Given the description of an element on the screen output the (x, y) to click on. 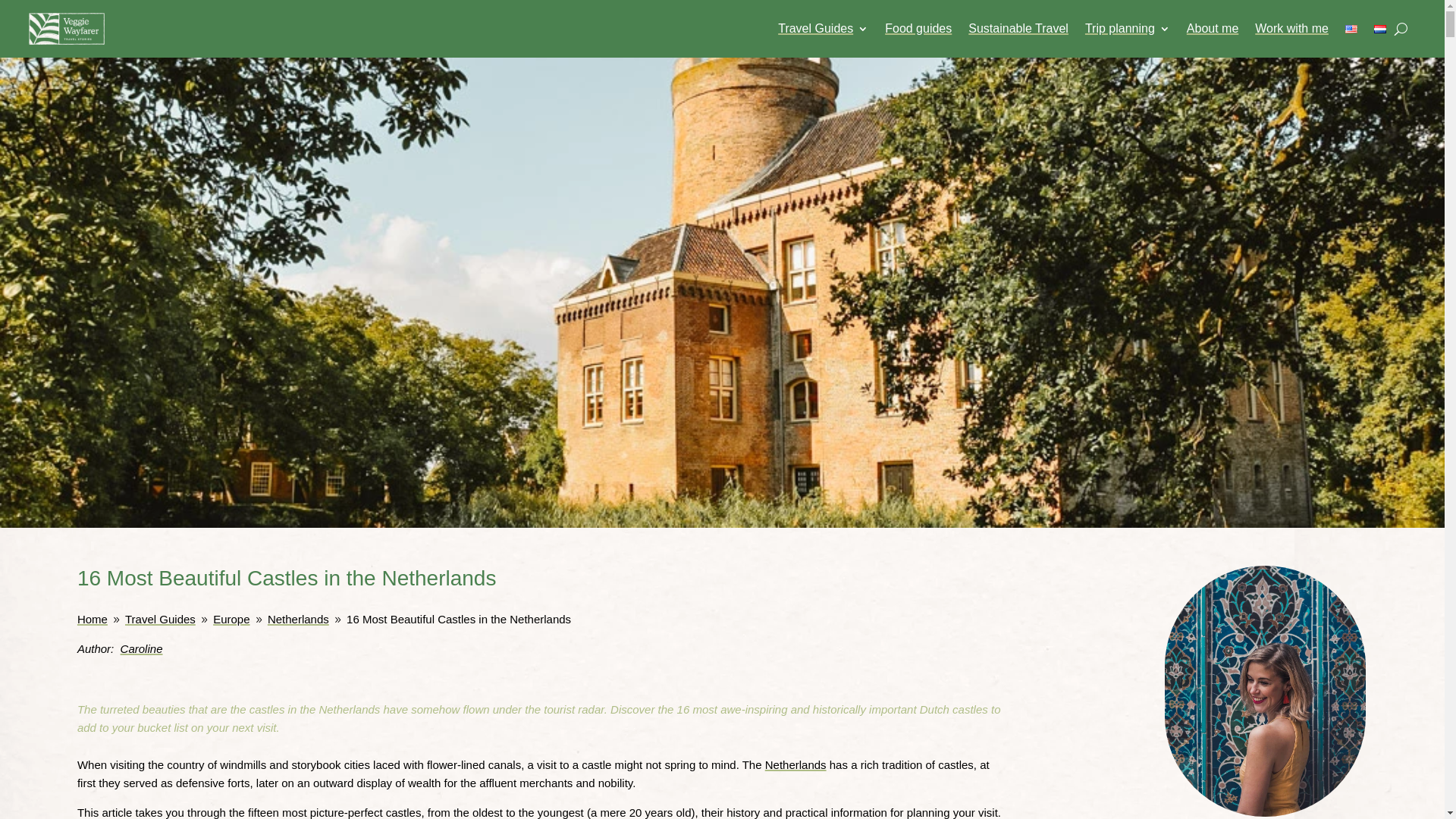
About me (1212, 28)
Trip planning (1127, 28)
Travel Guides (822, 28)
Work with me (1291, 28)
Netherlands (298, 618)
Sustainable Travel (1018, 28)
Home (92, 618)
Travel Guides (160, 618)
Food guides (918, 28)
Europe (230, 618)
